Given the description of an element on the screen output the (x, y) to click on. 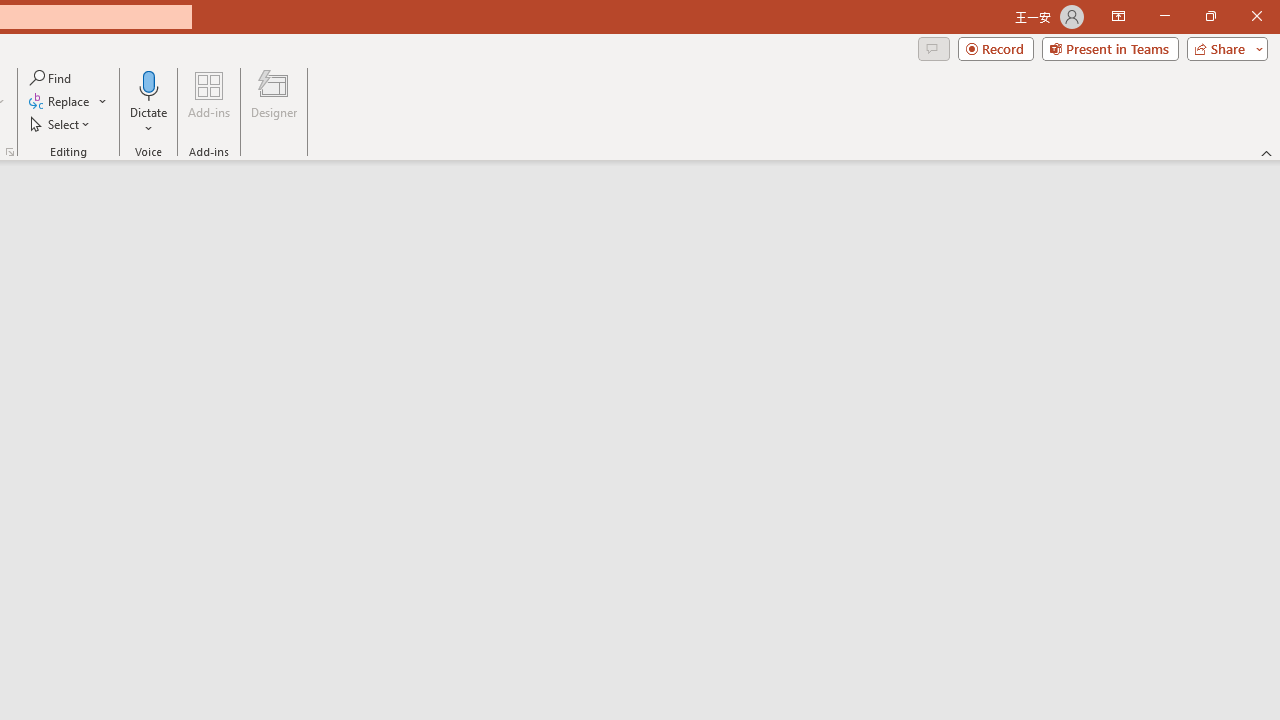
Find... (51, 78)
